Given the description of an element on the screen output the (x, y) to click on. 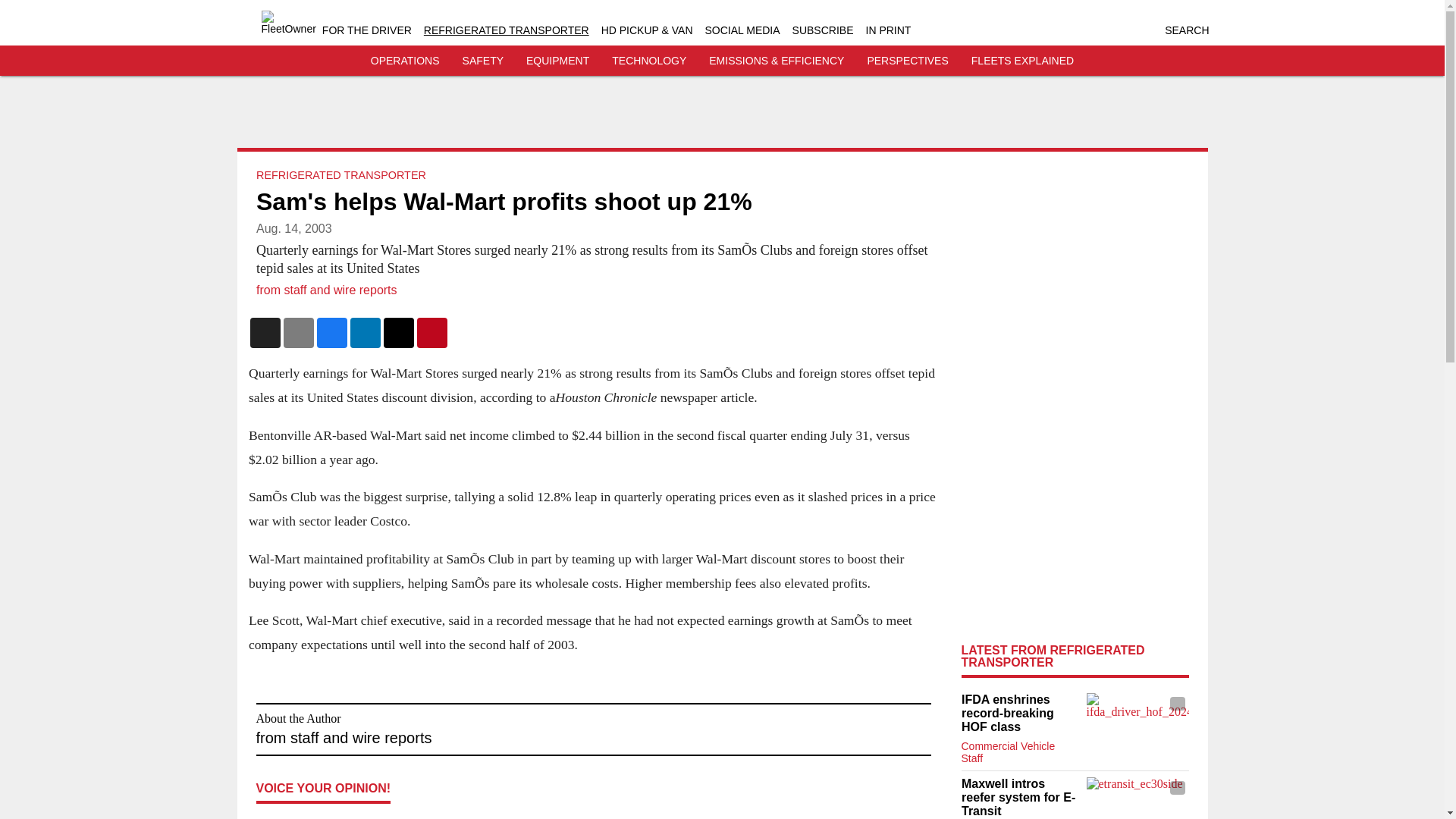
SAFETY (483, 60)
FOR THE DRIVER (366, 30)
TECHNOLOGY (648, 60)
SEARCH (1186, 30)
Commercial Vehicle Staff (1007, 752)
from staff and wire reports (326, 289)
REFRIGERATED TRANSPORTER (341, 174)
EQUIPMENT (557, 60)
SUBSCRIBE (822, 30)
PERSPECTIVES (906, 60)
